Given the description of an element on the screen output the (x, y) to click on. 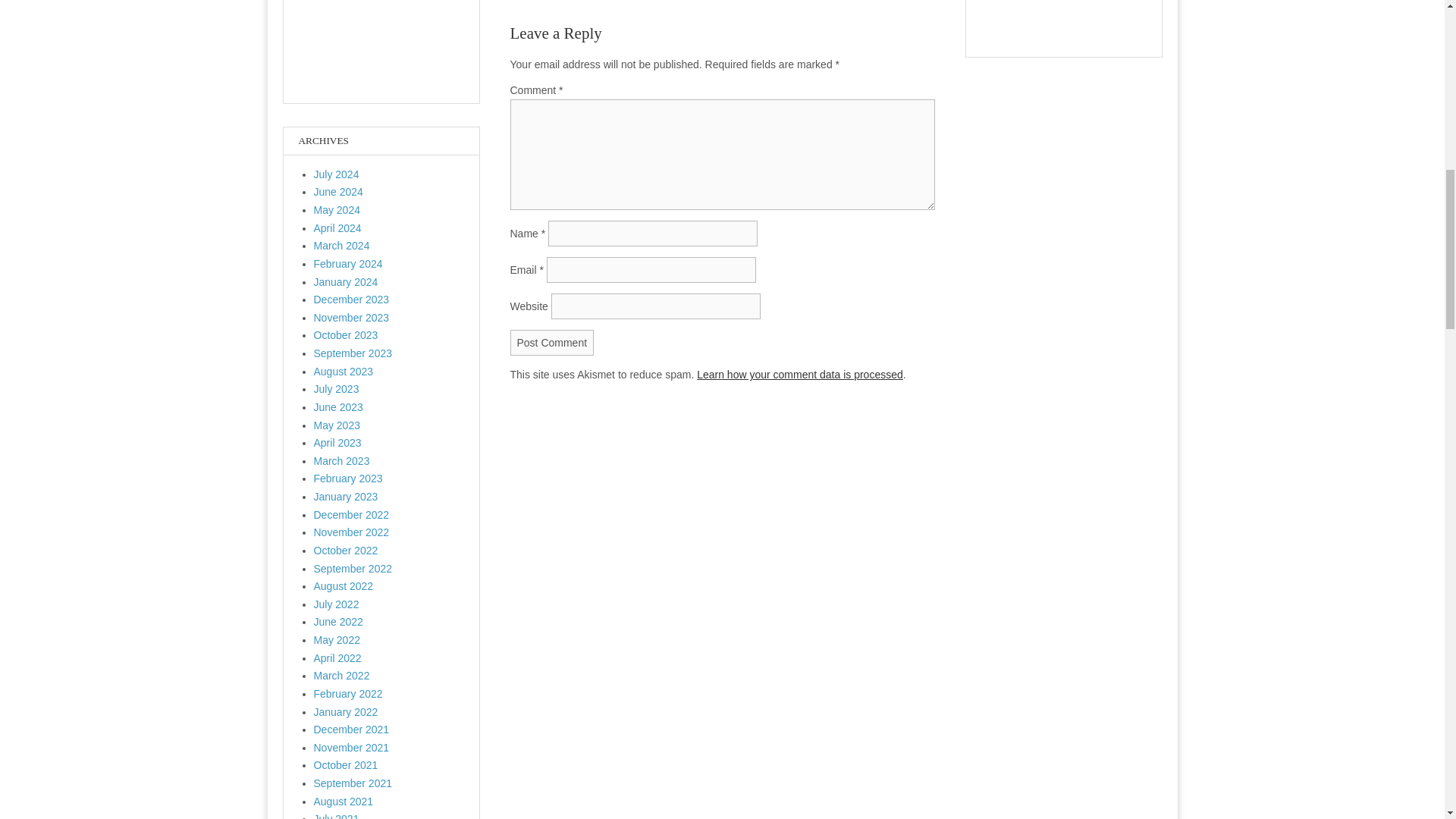
July 2024 (336, 174)
April 2024 (337, 227)
December 2023 (352, 299)
March 2024 (341, 245)
May 2024 (336, 209)
February 2024 (348, 263)
Post Comment (551, 342)
Learn how your comment data is processed (799, 374)
Post Comment (551, 342)
June 2024 (338, 191)
January 2024 (346, 282)
